Given the description of an element on the screen output the (x, y) to click on. 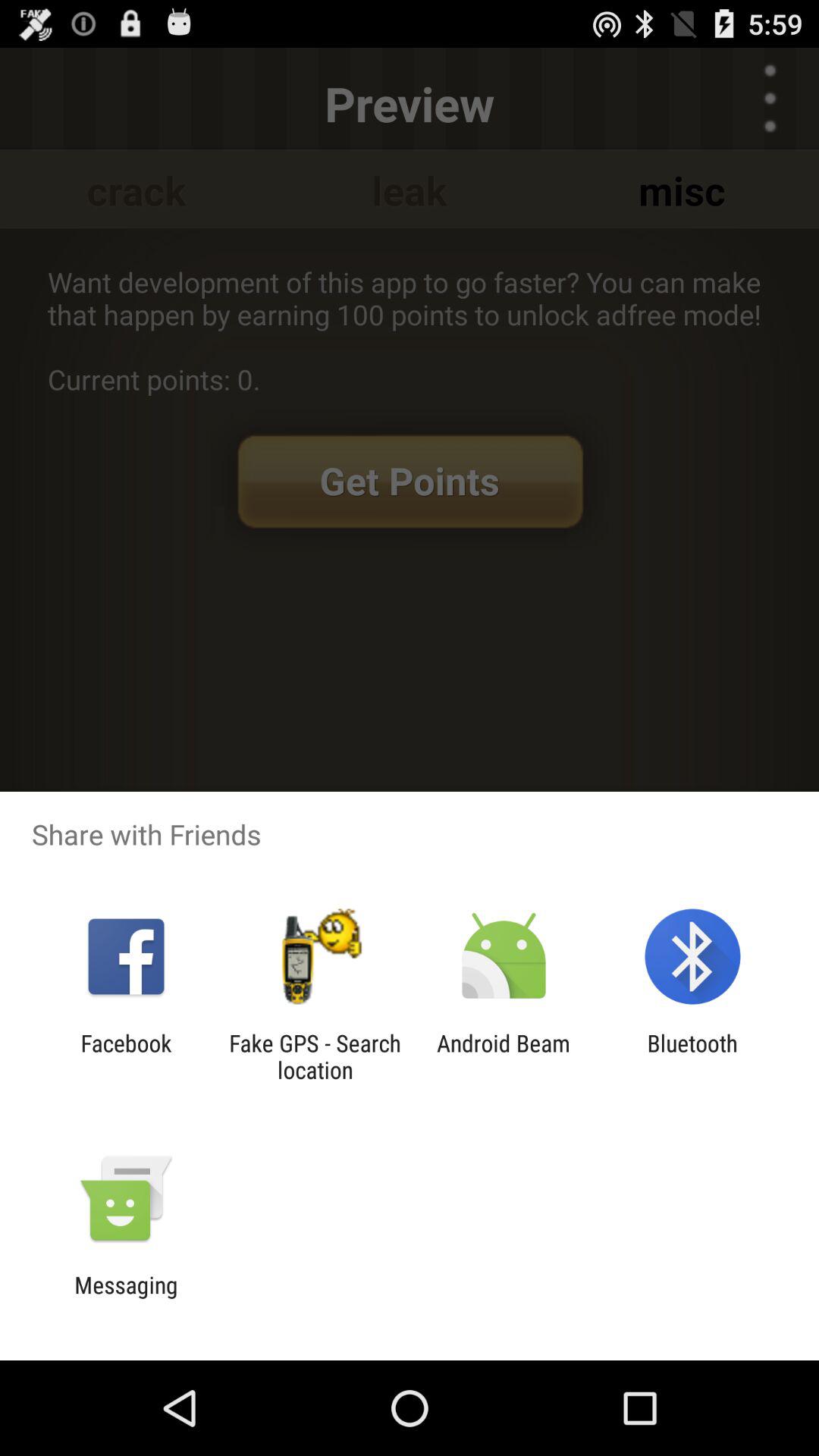
turn on the icon to the left of bluetooth icon (503, 1056)
